Given the description of an element on the screen output the (x, y) to click on. 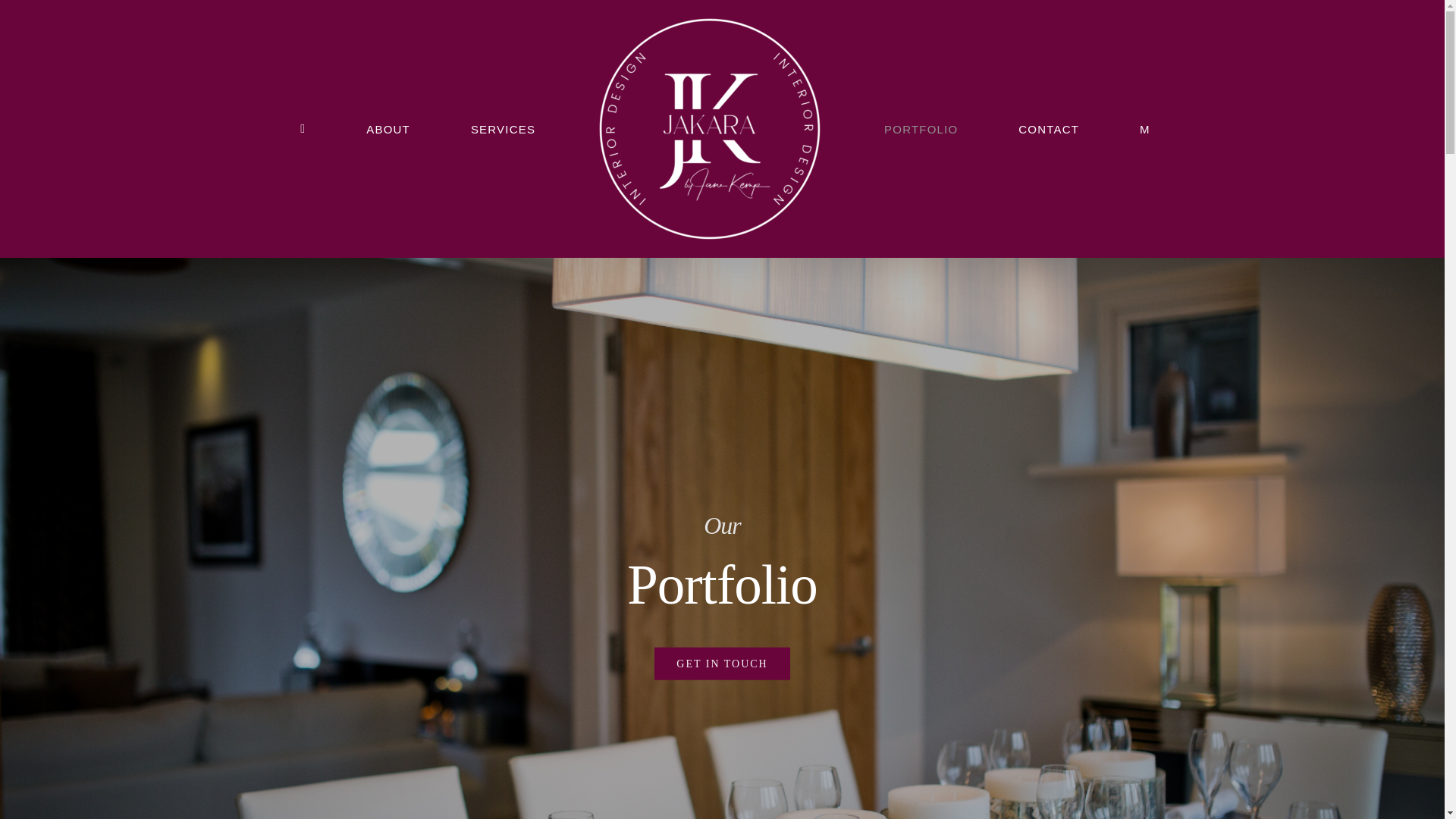
GET IN TOUCH (721, 663)
